Given the description of an element on the screen output the (x, y) to click on. 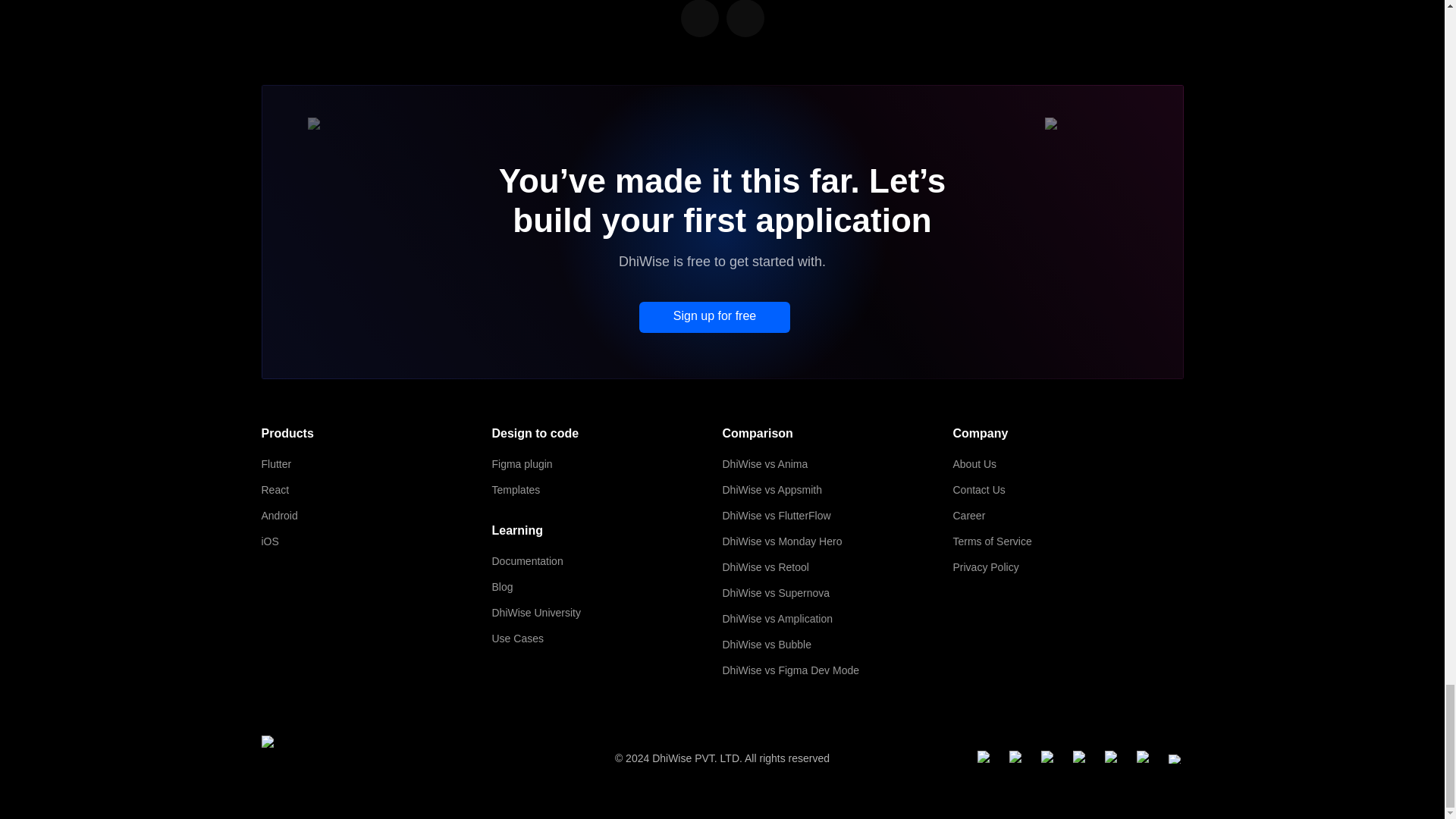
Sign up for free (714, 317)
DhiWise vs Anima (837, 464)
Flutter (376, 464)
Android (376, 515)
Blog (607, 587)
DhiWise vs Appsmith (837, 489)
Templates (607, 489)
iOS (376, 541)
DhiWise University (607, 612)
Use Cases (607, 638)
